Given the description of an element on the screen output the (x, y) to click on. 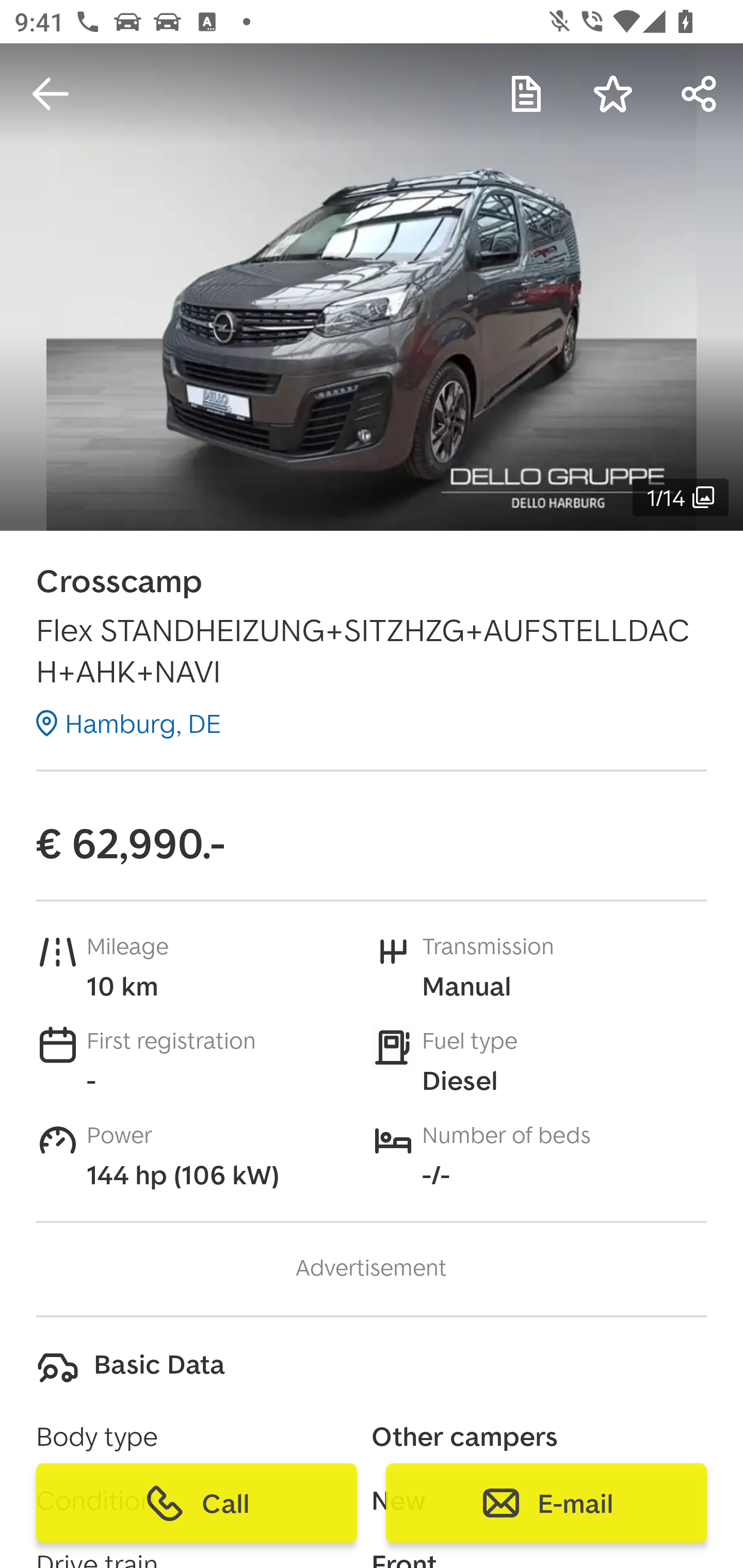
Navigate up (50, 93)
My Notes (525, 93)
Save (612, 93)
Forward (699, 93)
Hamburg, DE (128, 722)
Call (196, 1502)
E-mail (545, 1502)
